Given the description of an element on the screen output the (x, y) to click on. 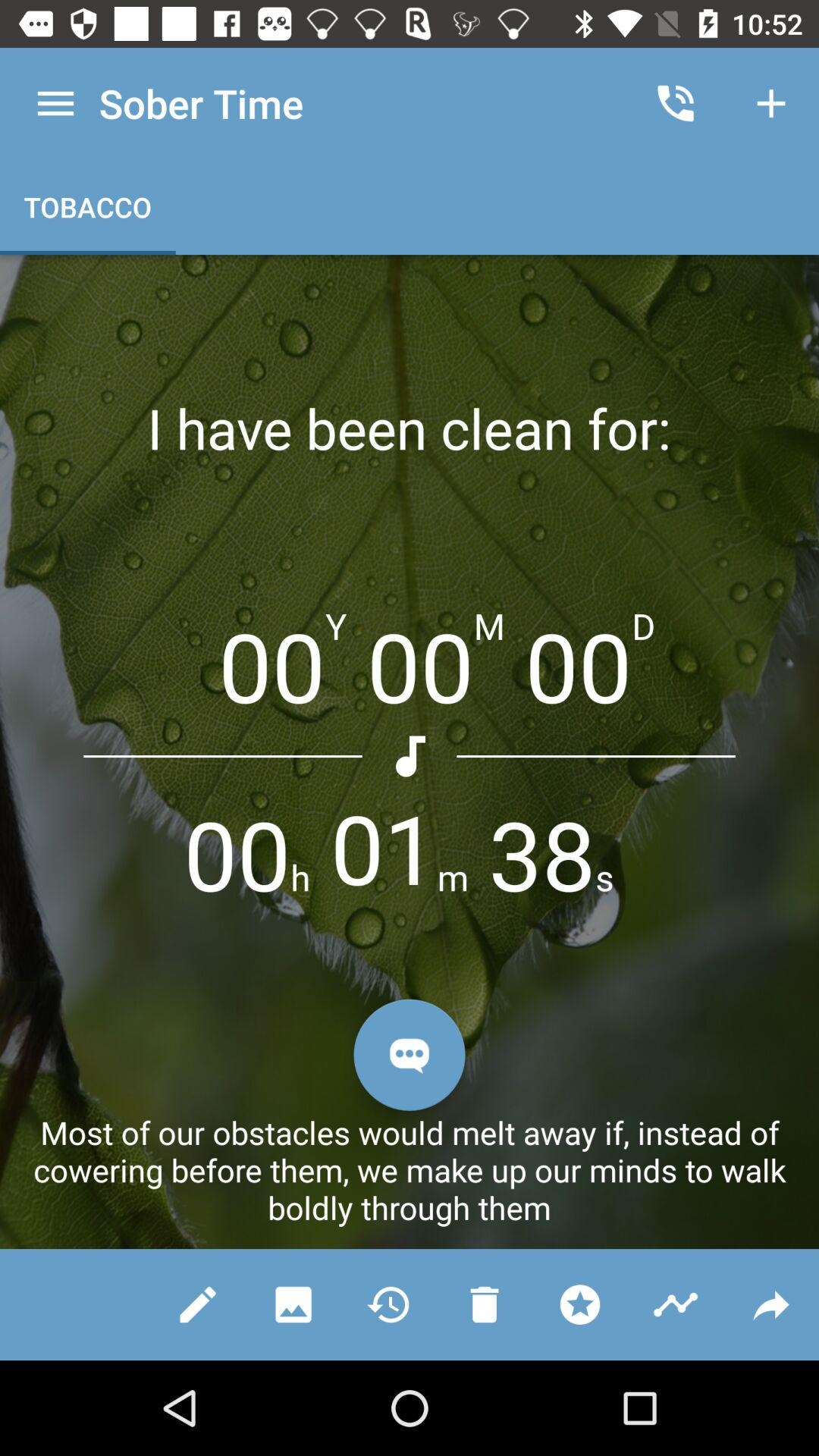
turn off the item below the 01 icon (409, 1054)
